Given the description of an element on the screen output the (x, y) to click on. 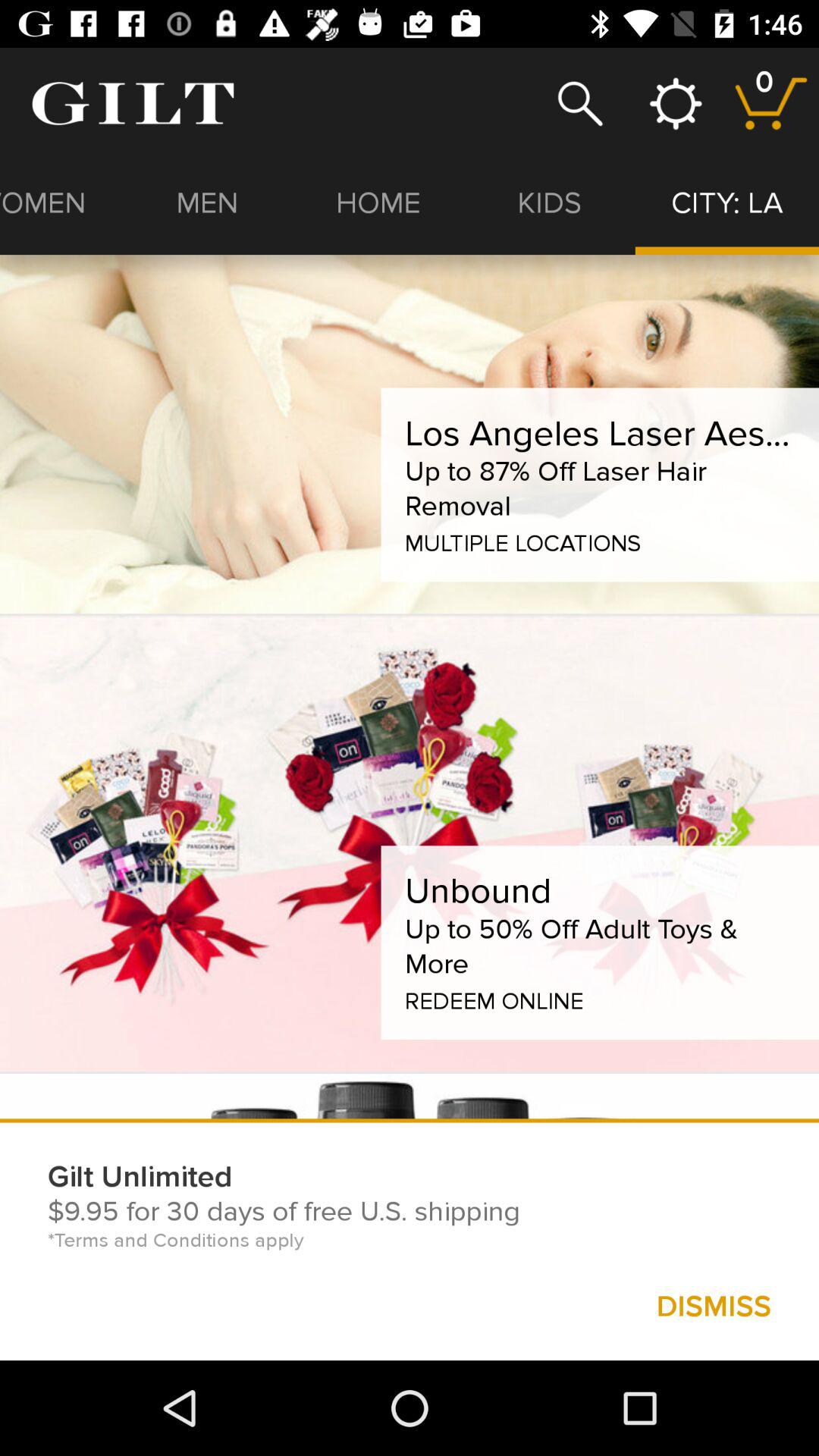
view items in your cart (771, 103)
